Given the description of an element on the screen output the (x, y) to click on. 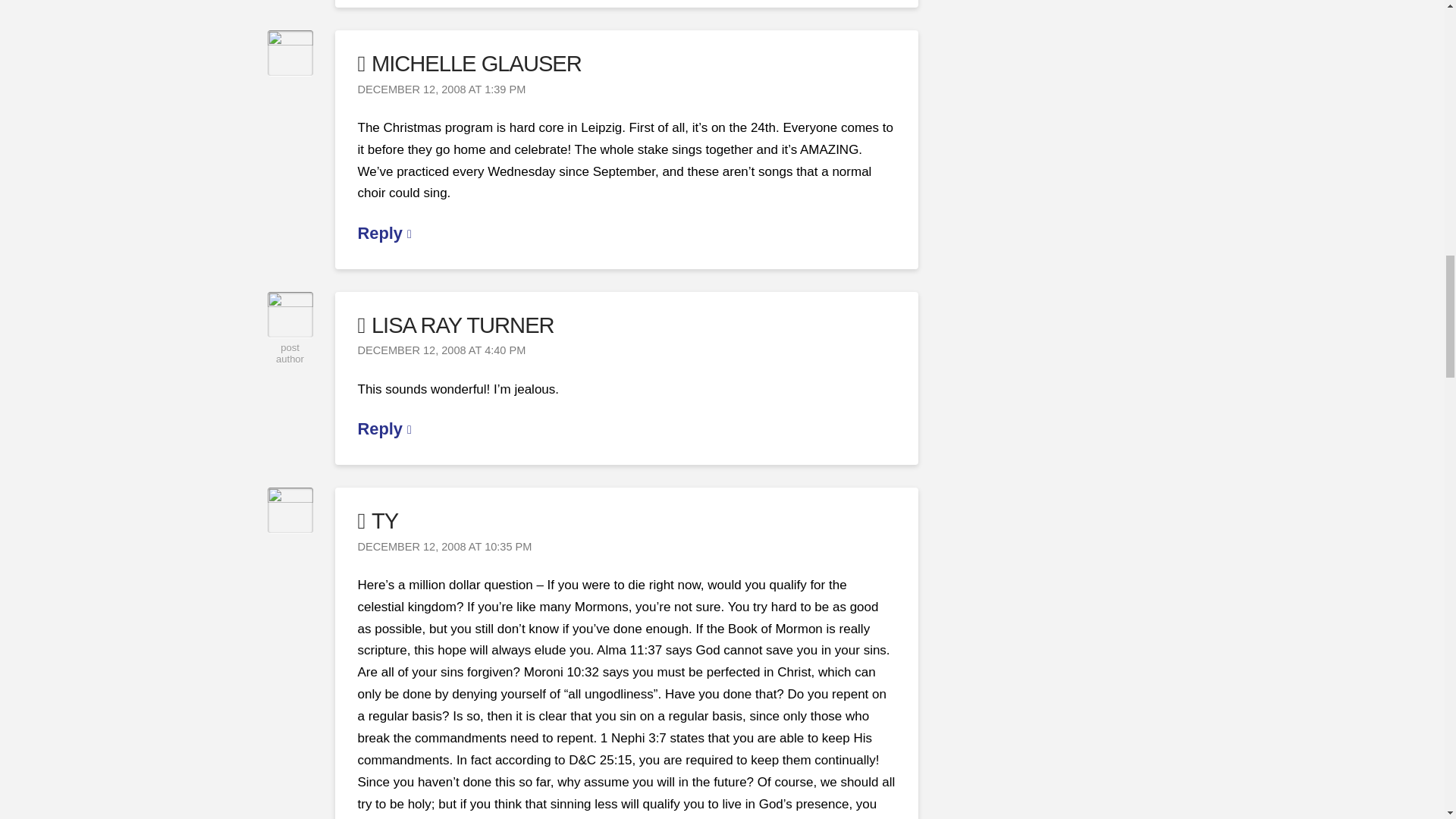
TY (378, 520)
DECEMBER 12, 2008 AT 1:39 PM (441, 89)
Reply (385, 232)
MICHELLE GLAUSER (469, 63)
DECEMBER 12, 2008 AT 4:40 PM (441, 350)
Reply (385, 428)
DECEMBER 12, 2008 AT 10:35 PM (445, 546)
LISA RAY TURNER (456, 324)
